Given the description of an element on the screen output the (x, y) to click on. 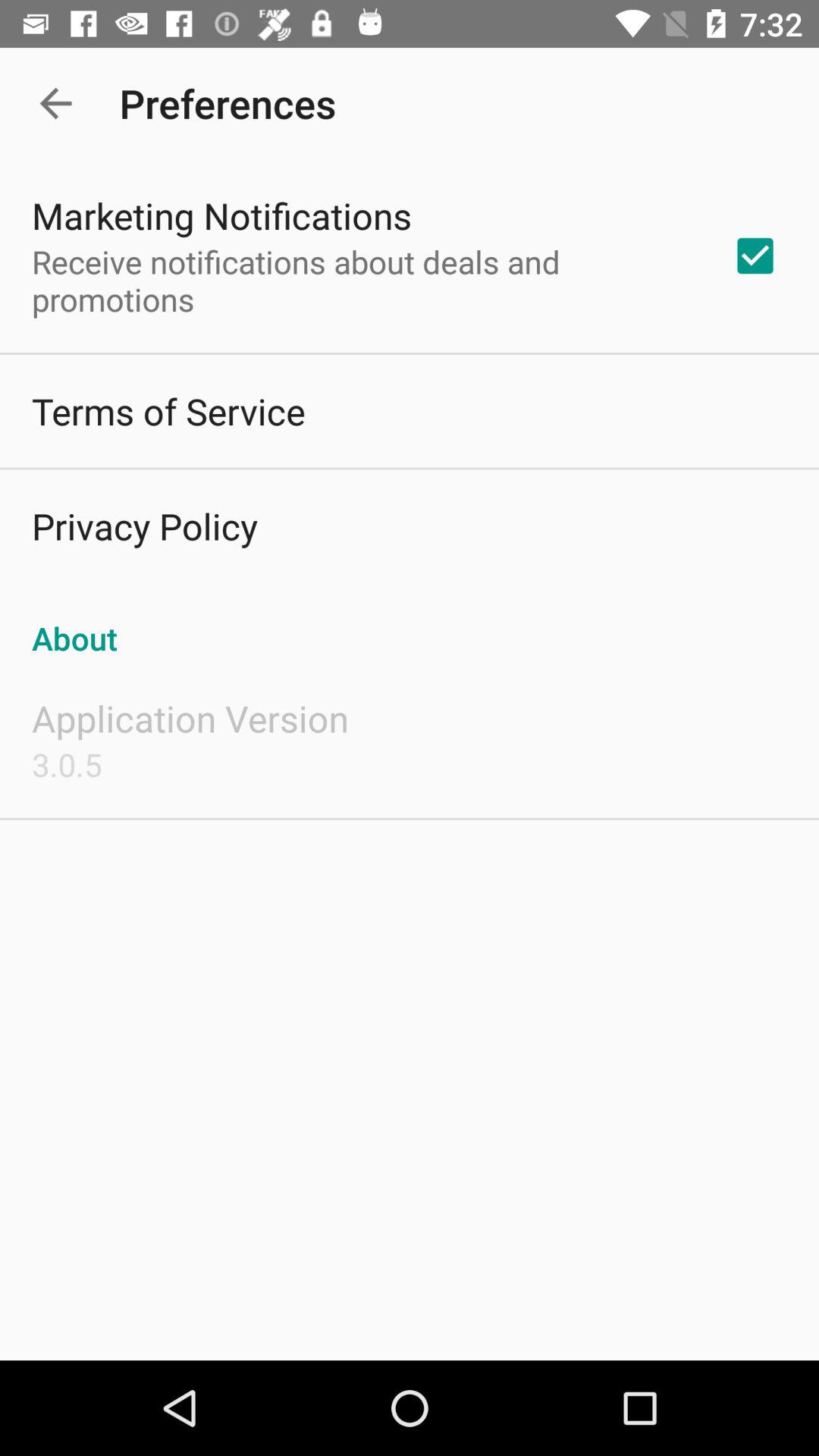
turn on icon above the terms of service (361, 280)
